Given the description of an element on the screen output the (x, y) to click on. 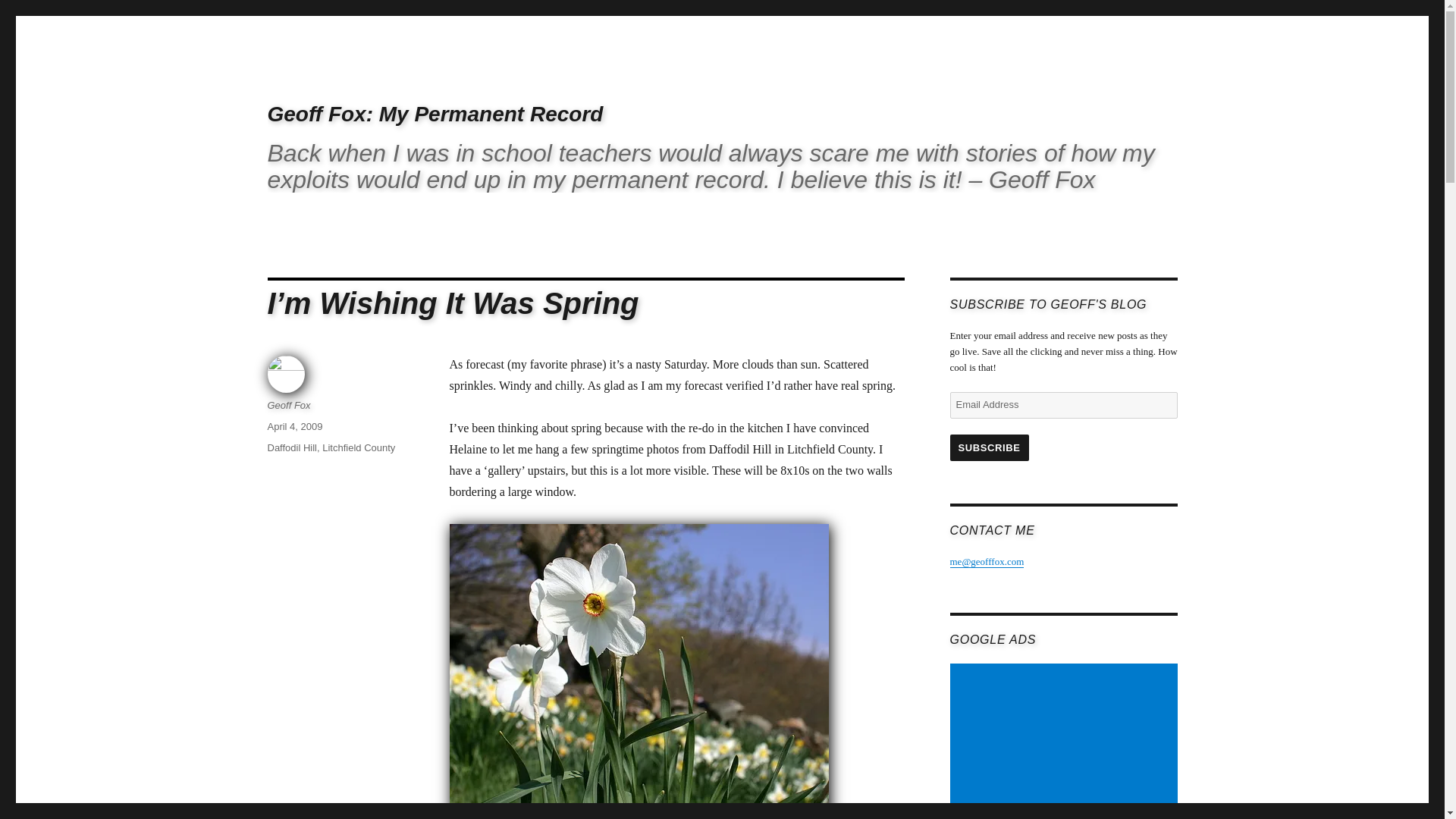
Geoff Fox (288, 405)
April 4, 2009 (293, 426)
Geoff Fox: My Permanent Record (434, 114)
Litchfield County (357, 447)
Daffodil Hill (291, 447)
